Given the description of an element on the screen output the (x, y) to click on. 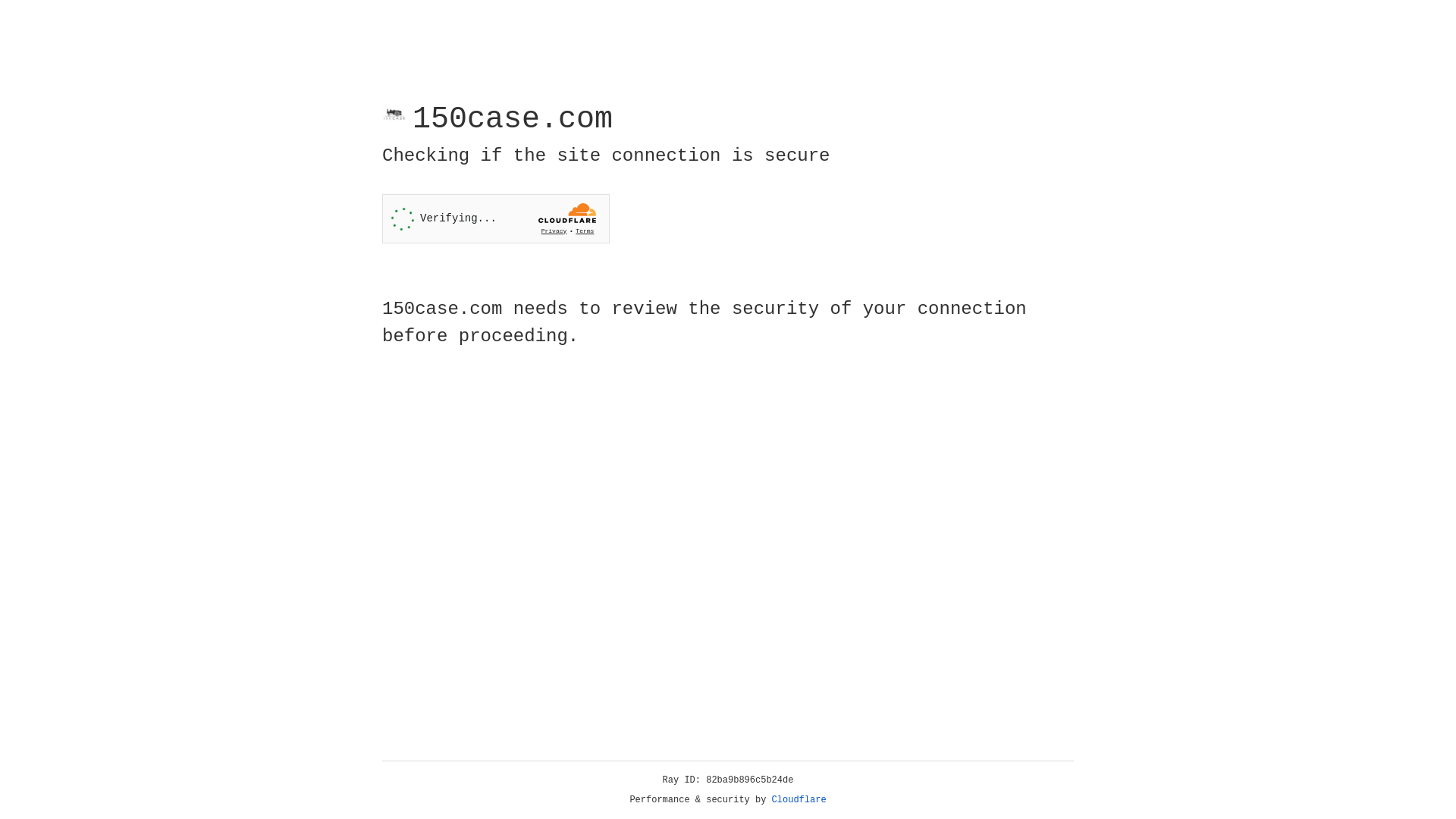
Widget containing a Cloudflare security challenge Element type: hover (495, 218)
Cloudflare Element type: text (798, 799)
